Given the description of an element on the screen output the (x, y) to click on. 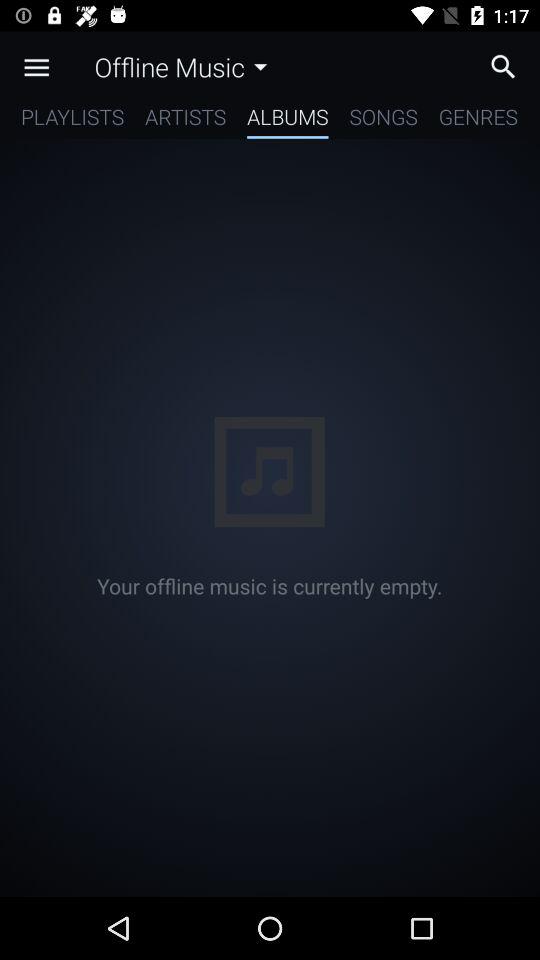
choose the albums app (287, 120)
